Given the description of an element on the screen output the (x, y) to click on. 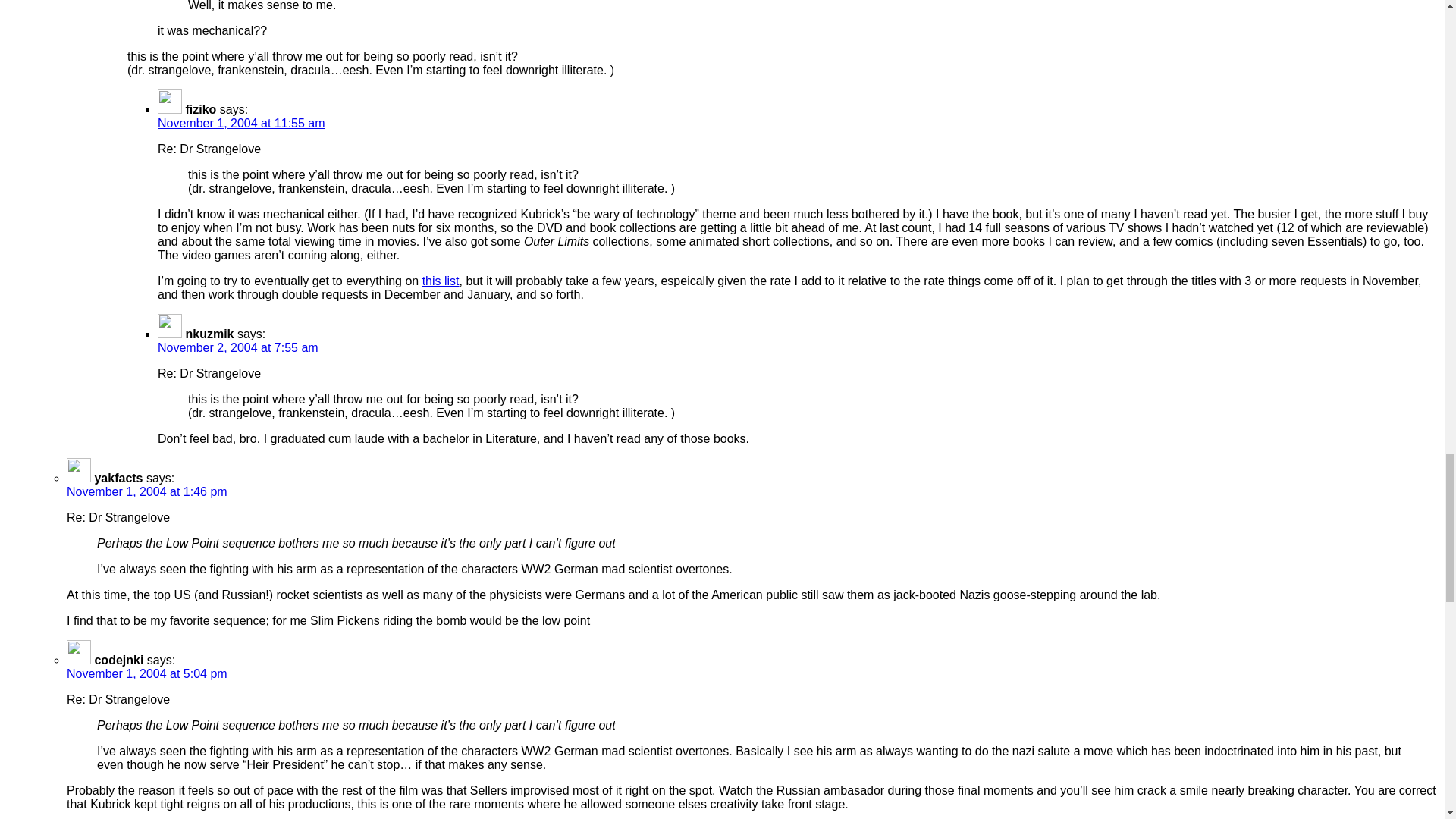
November 1, 2004 at 5:04 pm (146, 673)
November 2, 2004 at 7:55 am (237, 347)
November 1, 2004 at 1:46 pm (146, 491)
November 1, 2004 at 11:55 am (240, 123)
this list (441, 280)
